Given the description of an element on the screen output the (x, y) to click on. 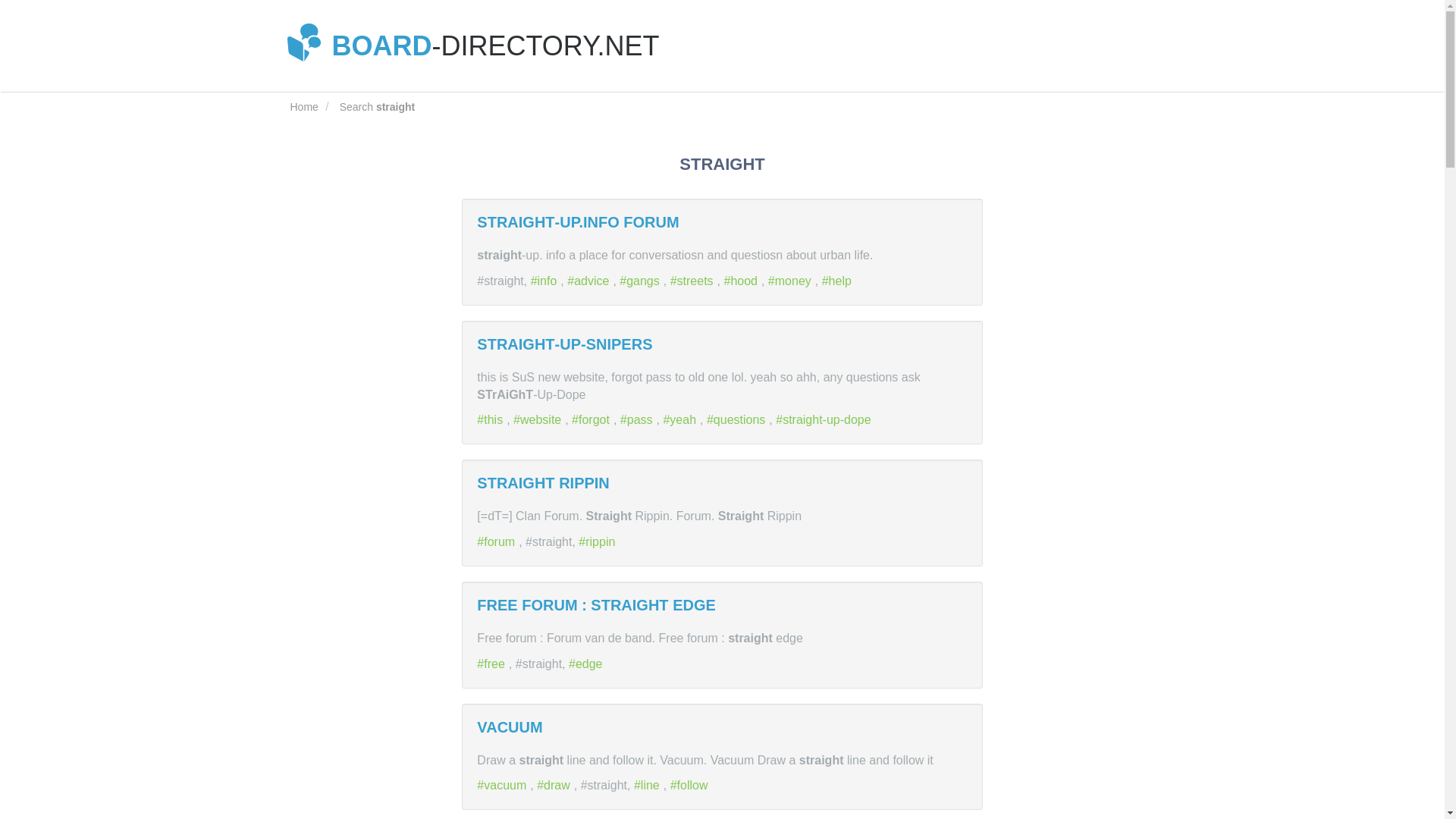
money (791, 280)
straight-up-dope (825, 419)
website (538, 419)
hood (742, 280)
streets (693, 280)
STRAIGHT RIPPIN (542, 483)
pass (638, 419)
advice (589, 280)
FREE FORUM : STRAIGHT EDGE (595, 605)
BOARD-DIRECTORY.NET (475, 45)
STRAIGHT-UP.INFO FORUM (577, 221)
edge (588, 663)
this (491, 419)
STRAIGHT-UP-SNIPERS (564, 343)
website (538, 419)
